Given the description of an element on the screen output the (x, y) to click on. 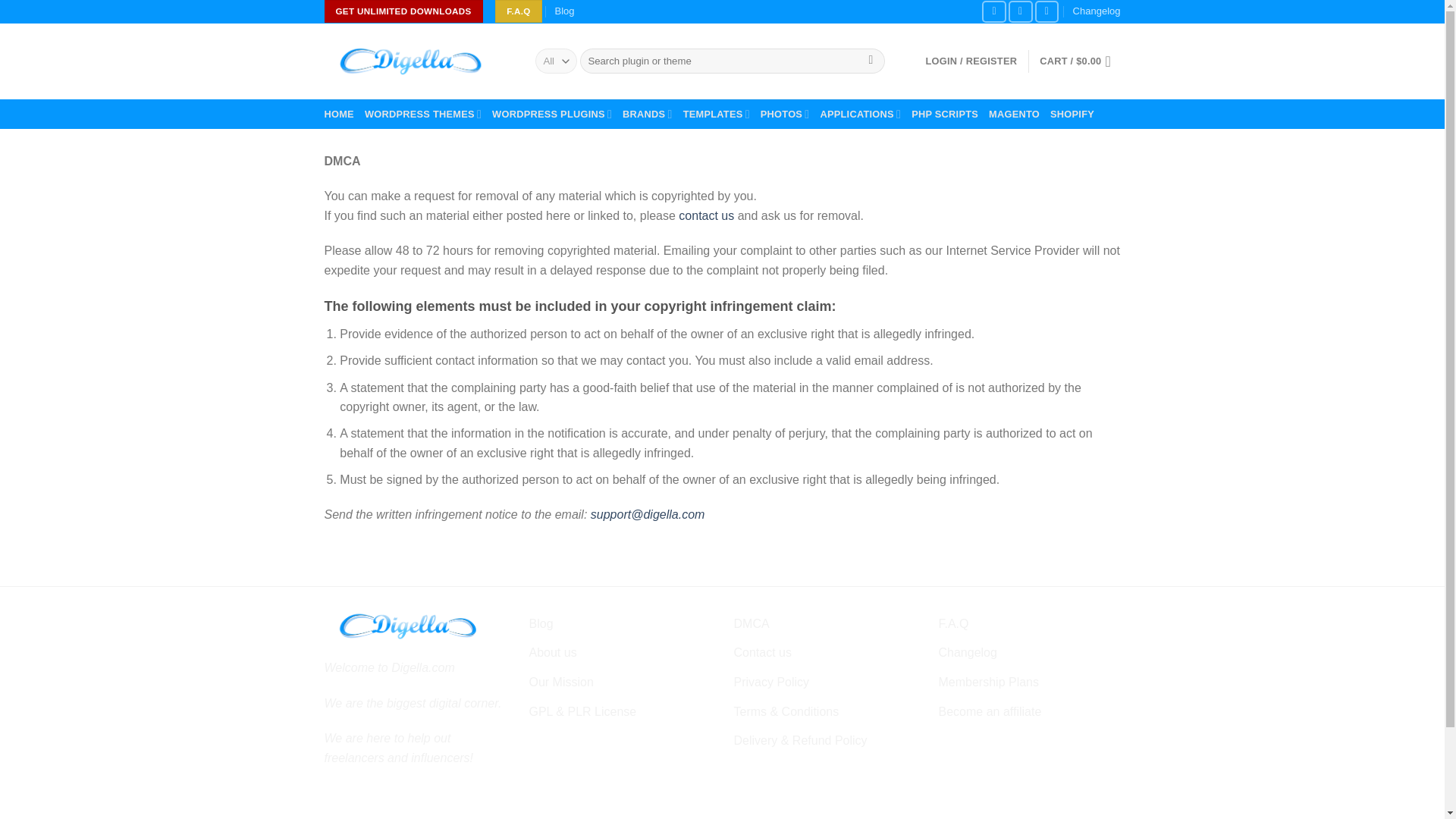
WORDPRESS THEMES (423, 113)
Follow on Facebook (993, 11)
Cart (1079, 61)
HOME (338, 113)
WORDPRESS PLUGINS (551, 113)
Send us an email (1047, 11)
GET UNLIMITED DOWNLOADS (403, 11)
Follow on Instagram (1020, 11)
Changelog (1097, 11)
Digella - Unlimited Digital Products (418, 60)
F.A.Q (518, 11)
